Given the description of an element on the screen output the (x, y) to click on. 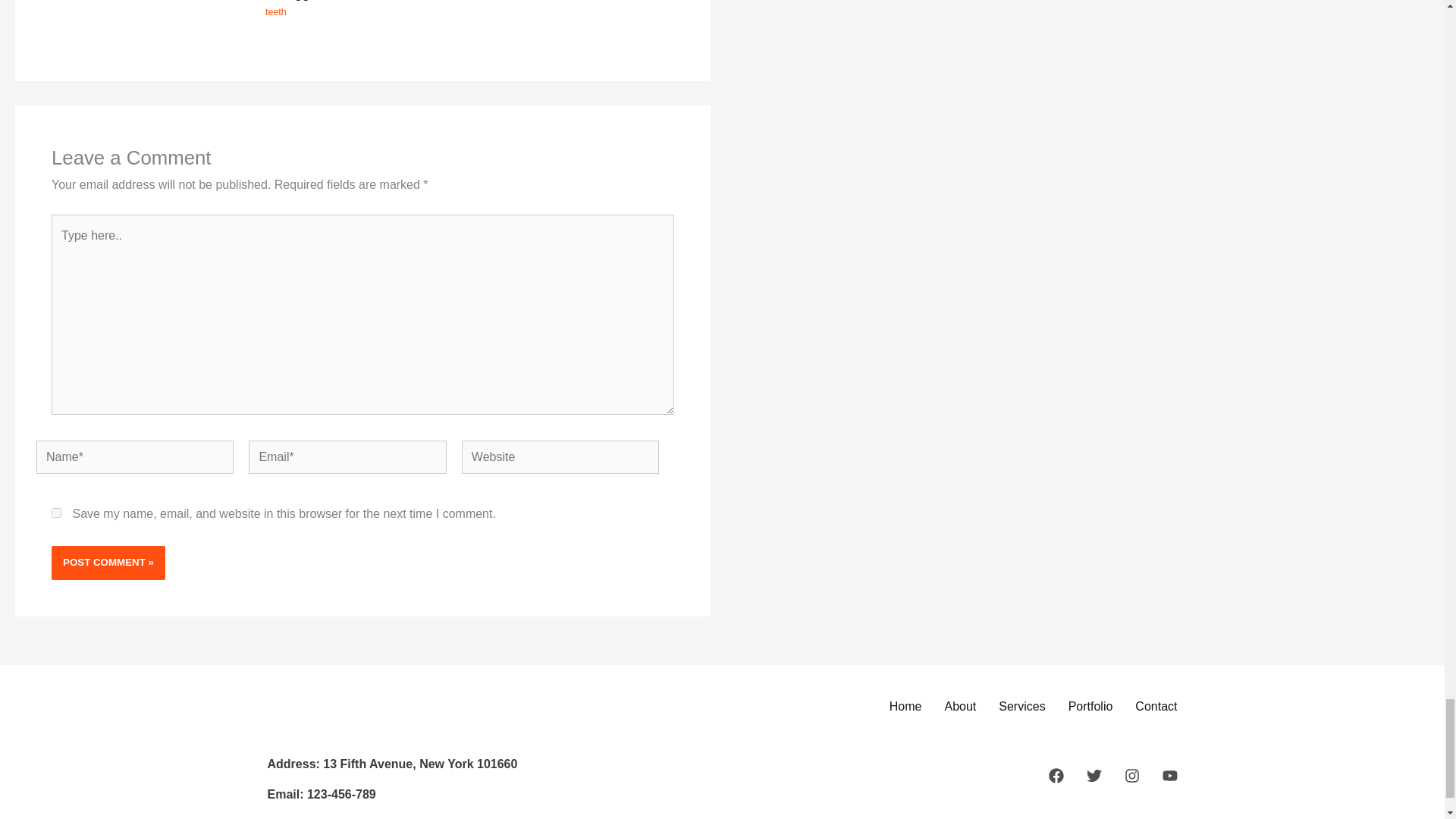
yes (55, 512)
